Given the description of an element on the screen output the (x, y) to click on. 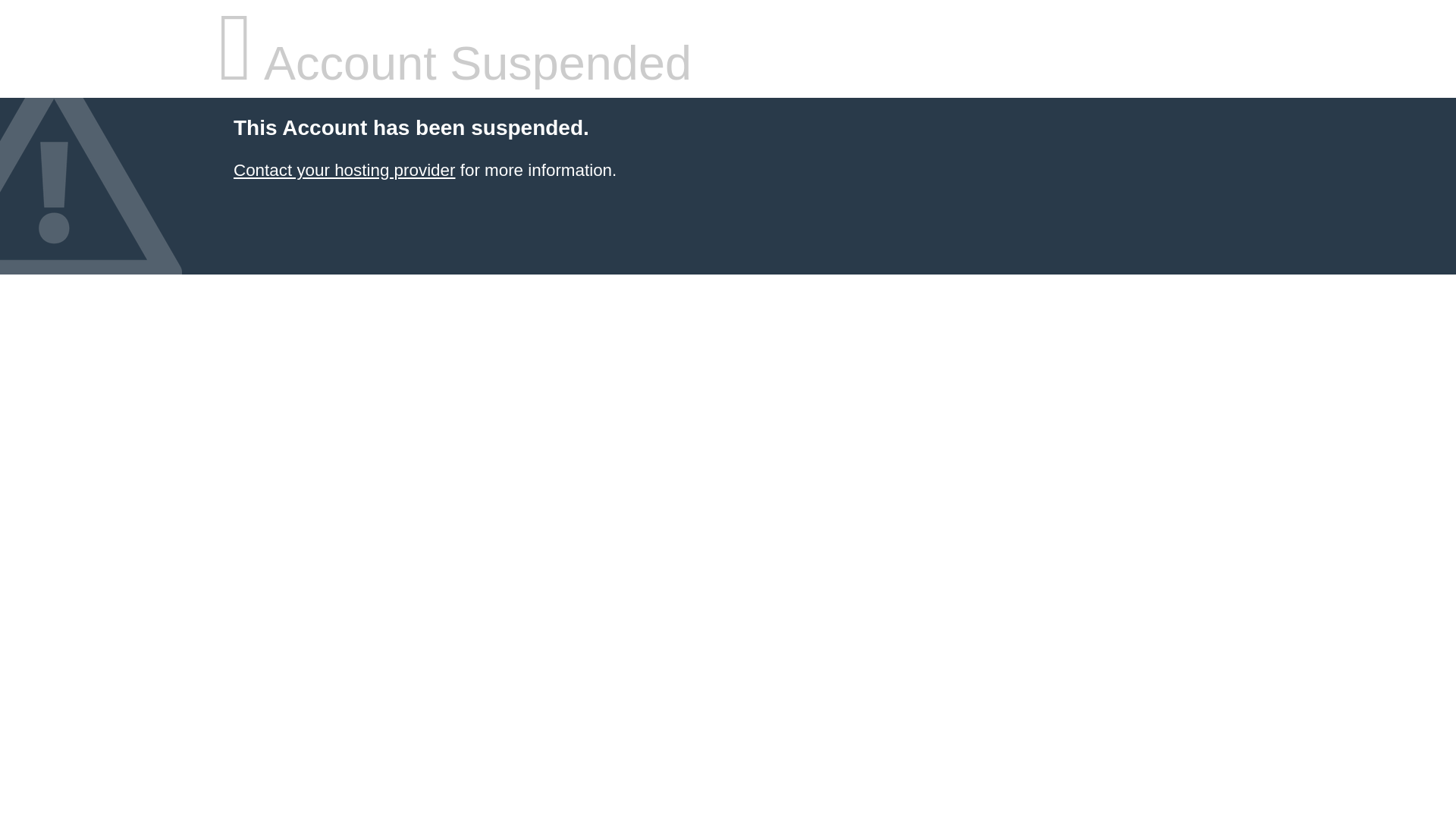
Contact your hosting provider (343, 169)
